Given the description of an element on the screen output the (x, y) to click on. 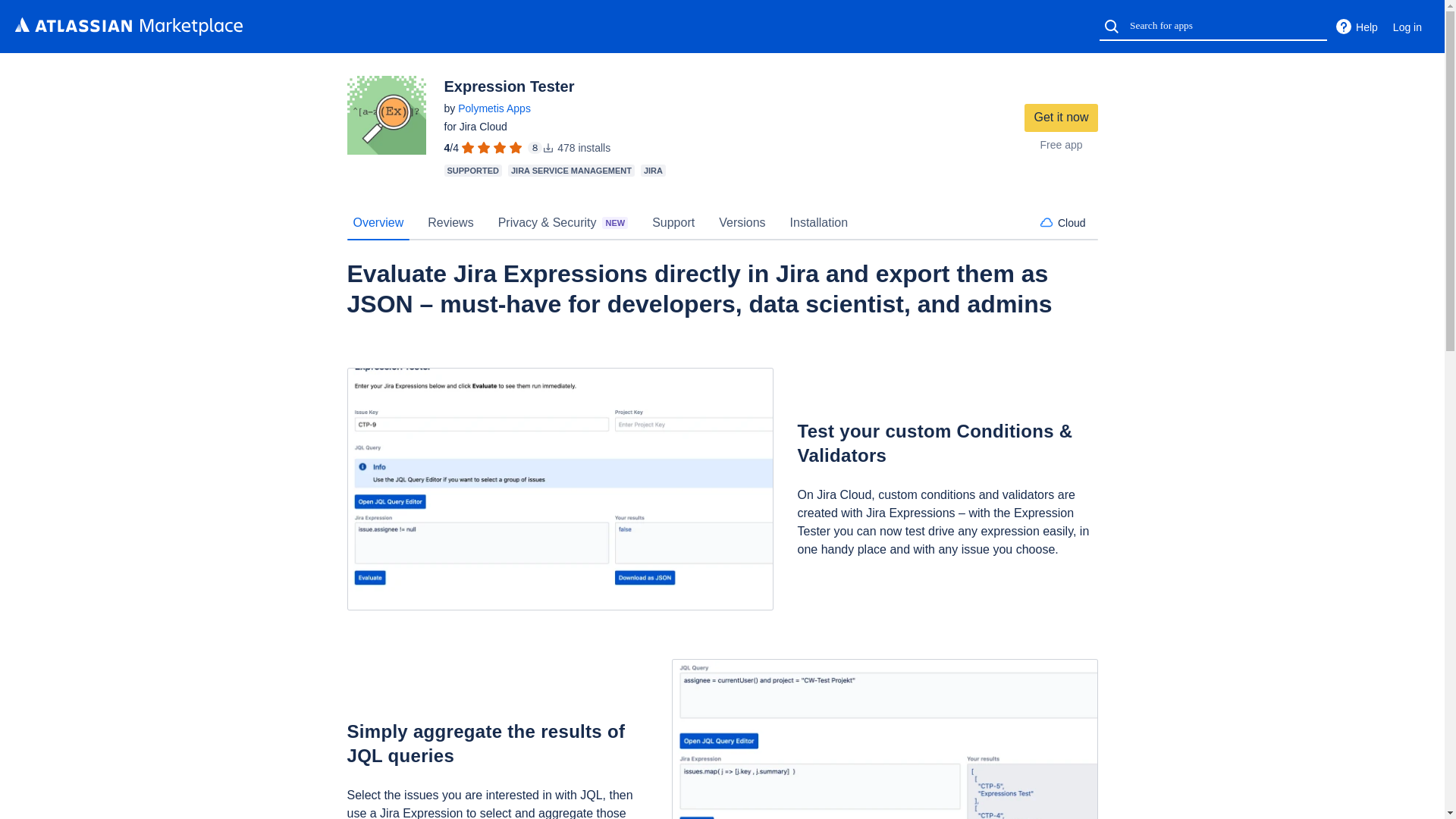
Atlassian Marketplace (128, 26)
Help (1356, 26)
Log in (1407, 26)
Get it now (1061, 117)
Polymetis Apps (494, 108)
